Given the description of an element on the screen output the (x, y) to click on. 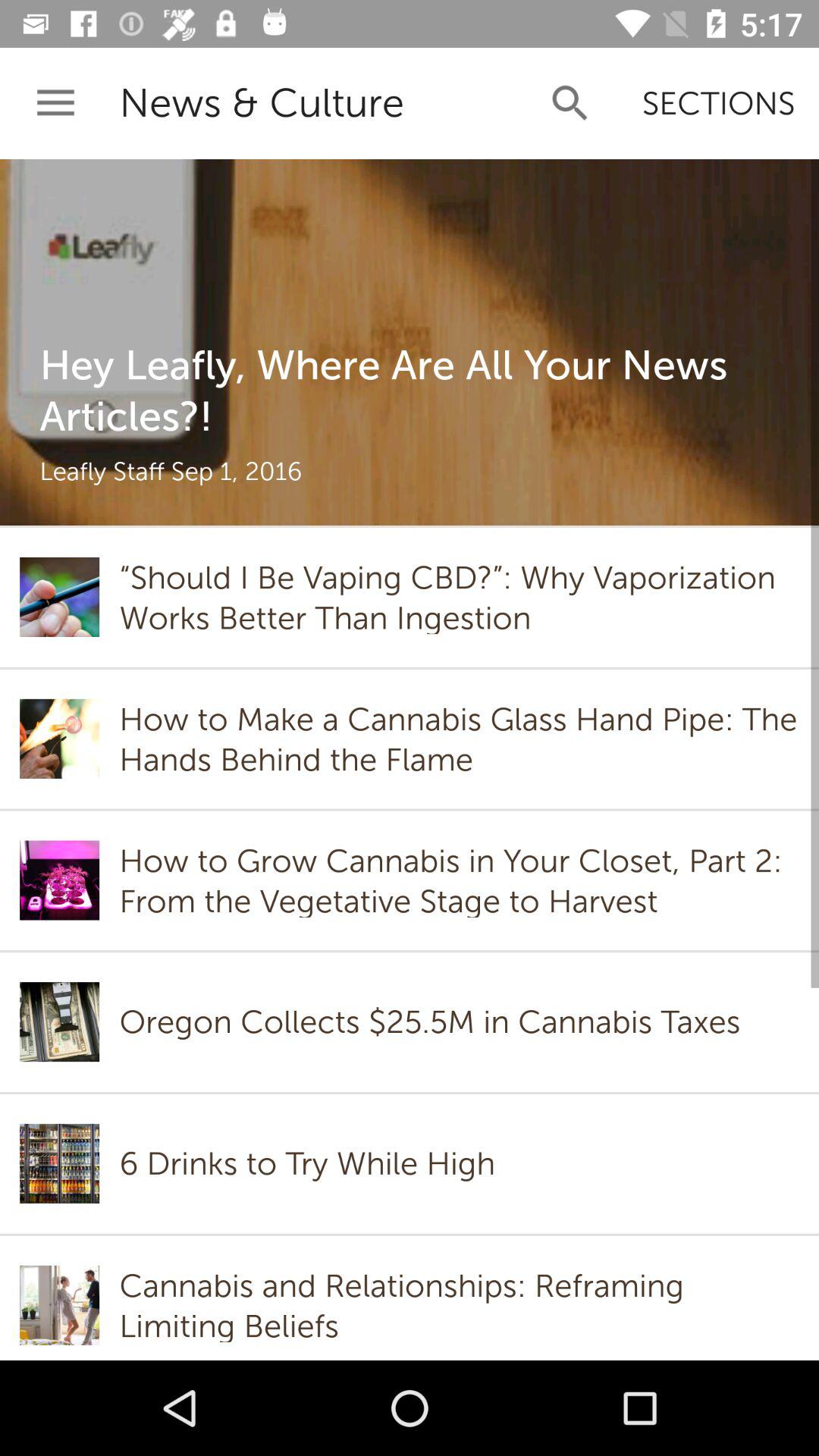
turn on the icon above 6 drinks to (434, 1021)
